Given the description of an element on the screen output the (x, y) to click on. 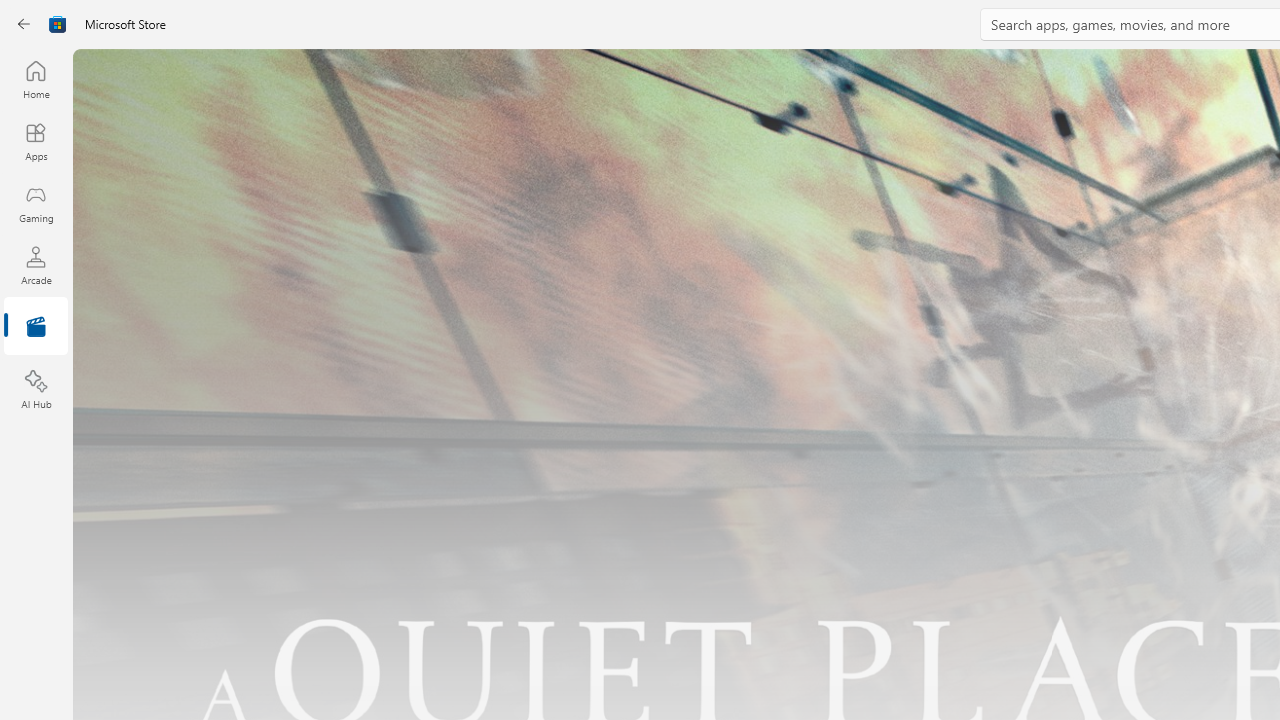
Class: Image (58, 24)
Entertainment (35, 327)
Apps (35, 141)
Arcade (35, 265)
Back (24, 24)
AI Hub (35, 390)
Gaming (35, 203)
Home (35, 79)
